Given the description of an element on the screen output the (x, y) to click on. 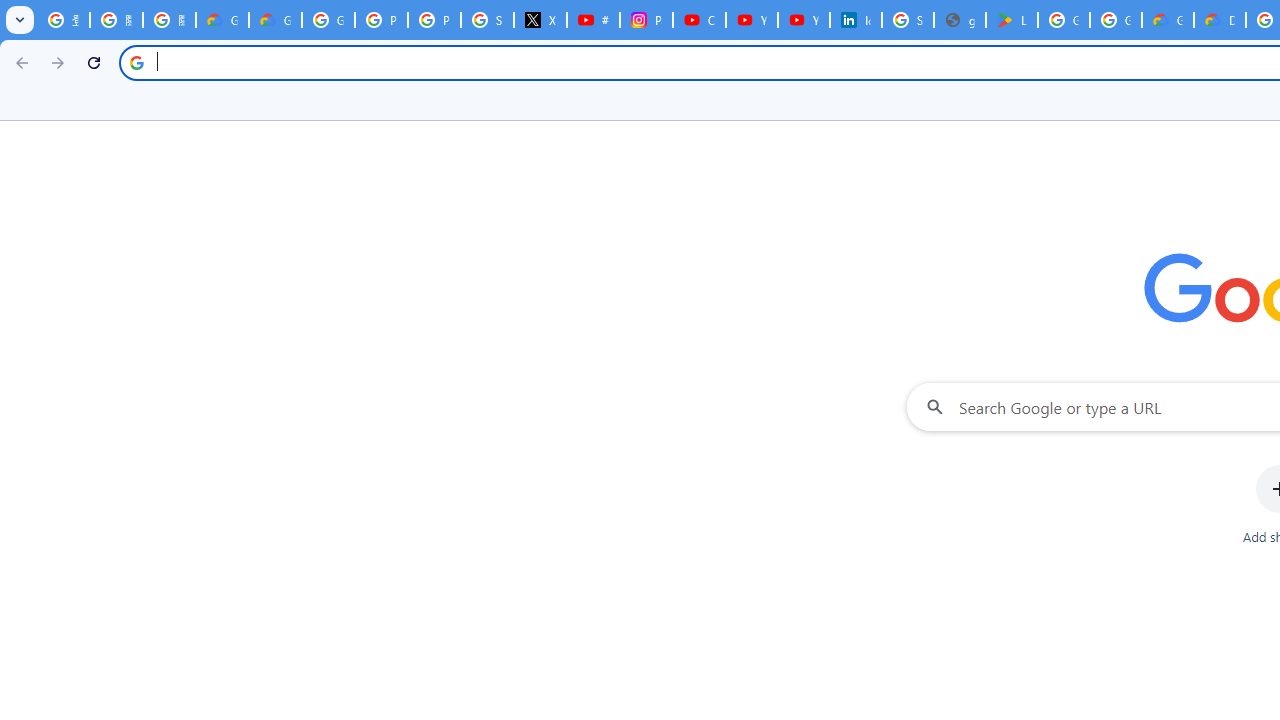
Government | Google Cloud (1167, 20)
Google Cloud Privacy Notice (222, 20)
YouTube Culture & Trends - YouTube Top 10, 2021 (803, 20)
